Given the description of an element on the screen output the (x, y) to click on. 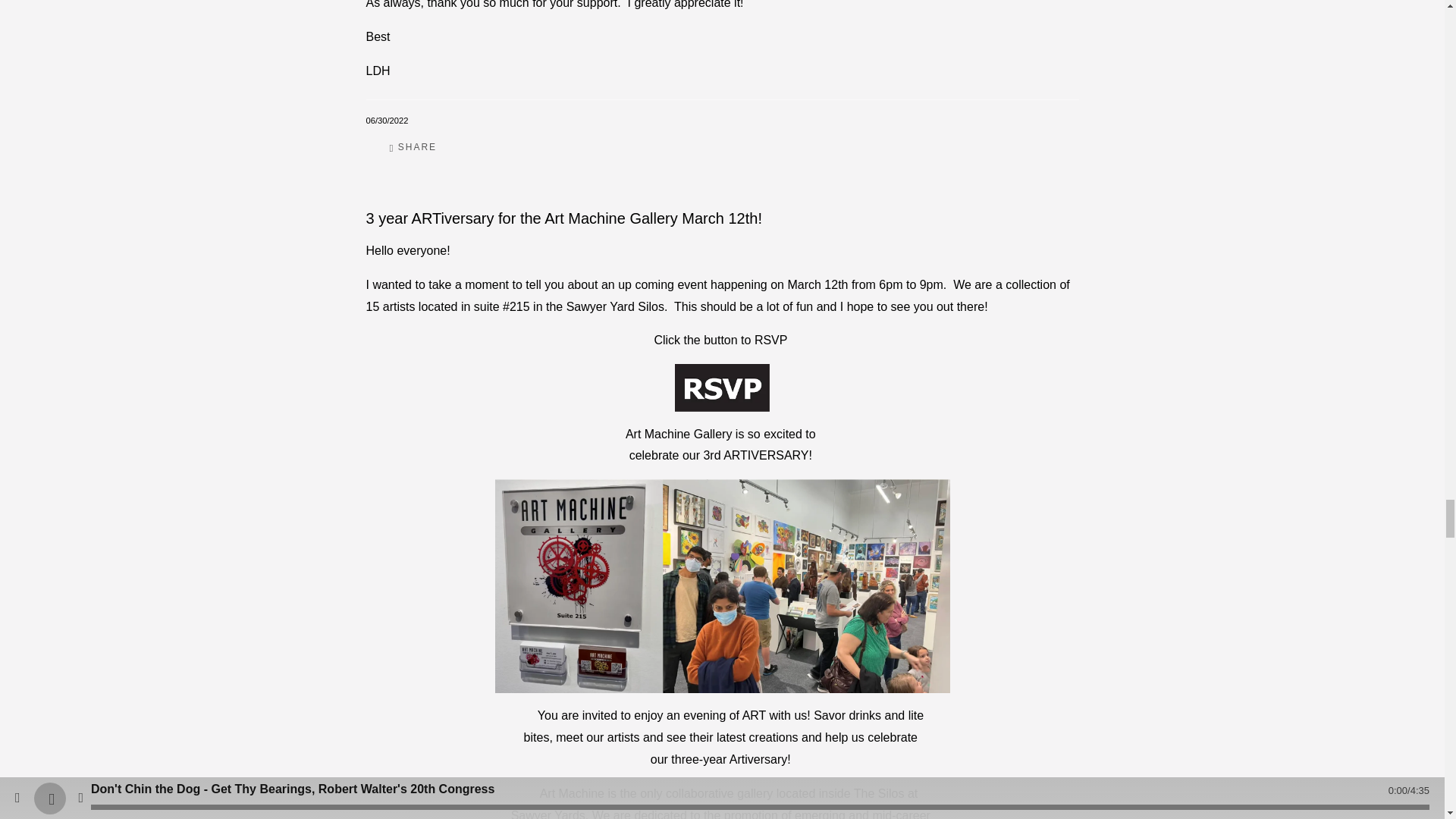
June 30, 2022 12:38 (386, 120)
Share Well, it's been a minute... (413, 147)
